Given the description of an element on the screen output the (x, y) to click on. 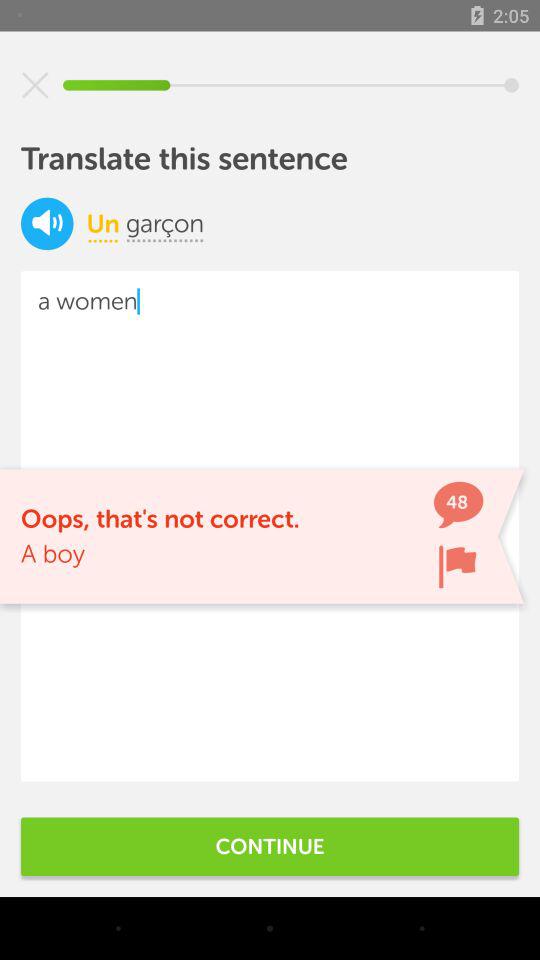
select the item next to the (102, 223)
